Given the description of an element on the screen output the (x, y) to click on. 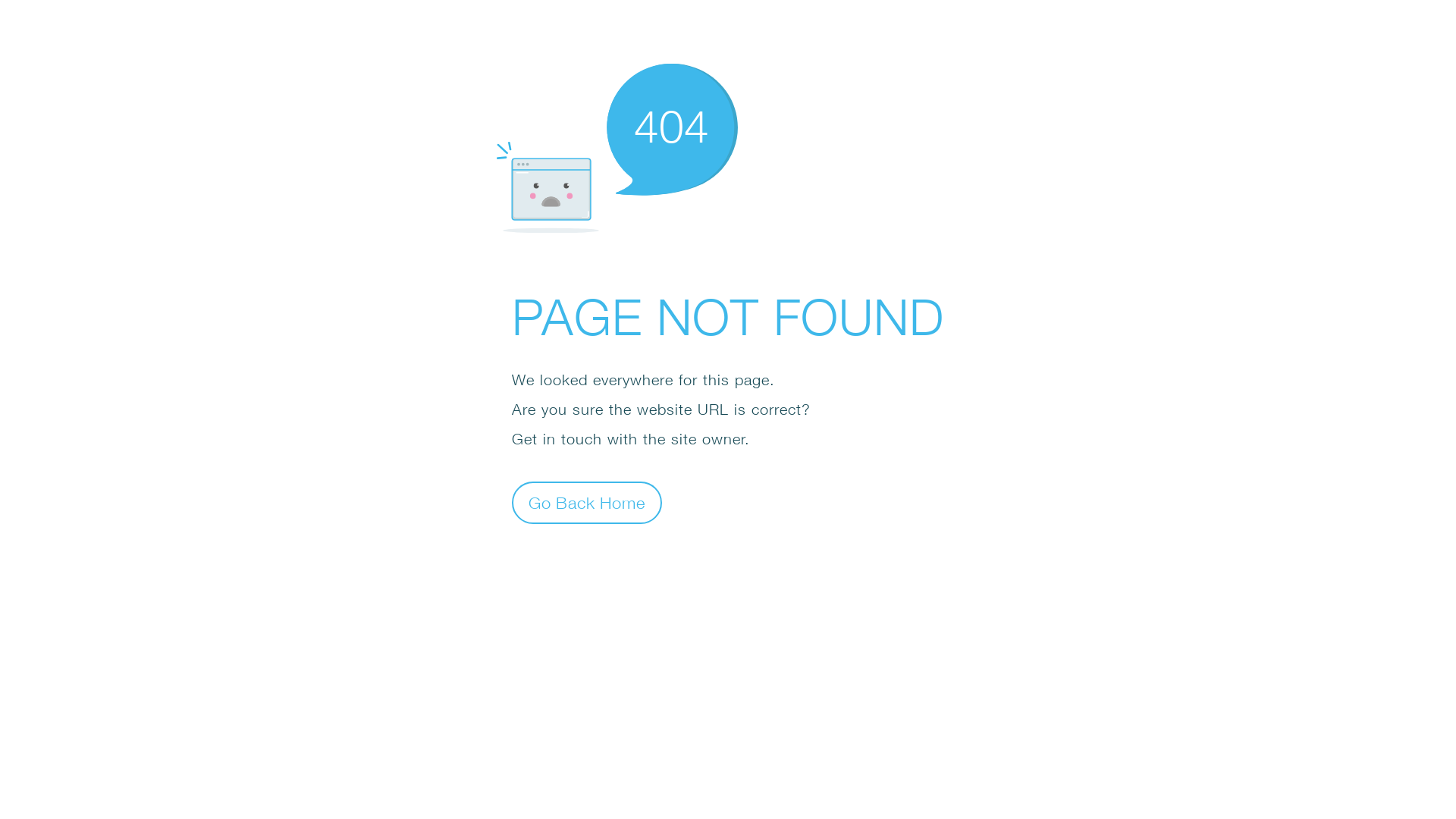
Go Back Home Element type: text (586, 502)
